Given the description of an element on the screen output the (x, y) to click on. 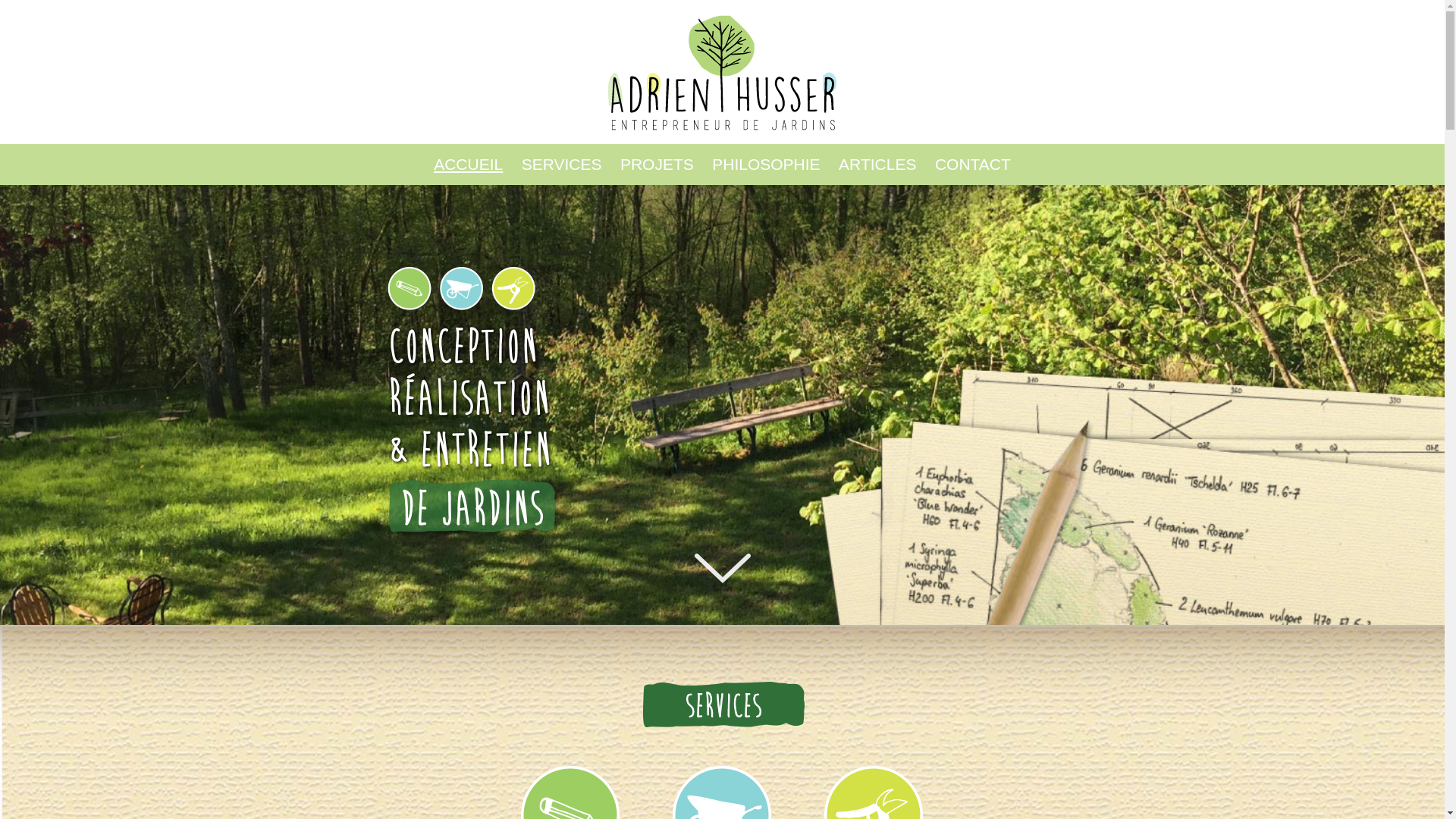
CONTACT Element type: text (972, 164)
ARTICLES Element type: text (877, 164)
ACCUEIL Element type: text (468, 164)
PROJETS Element type: text (656, 164)
SERVICES Element type: text (561, 164)
PHILOSOPHIE Element type: text (765, 164)
